Given the description of an element on the screen output the (x, y) to click on. 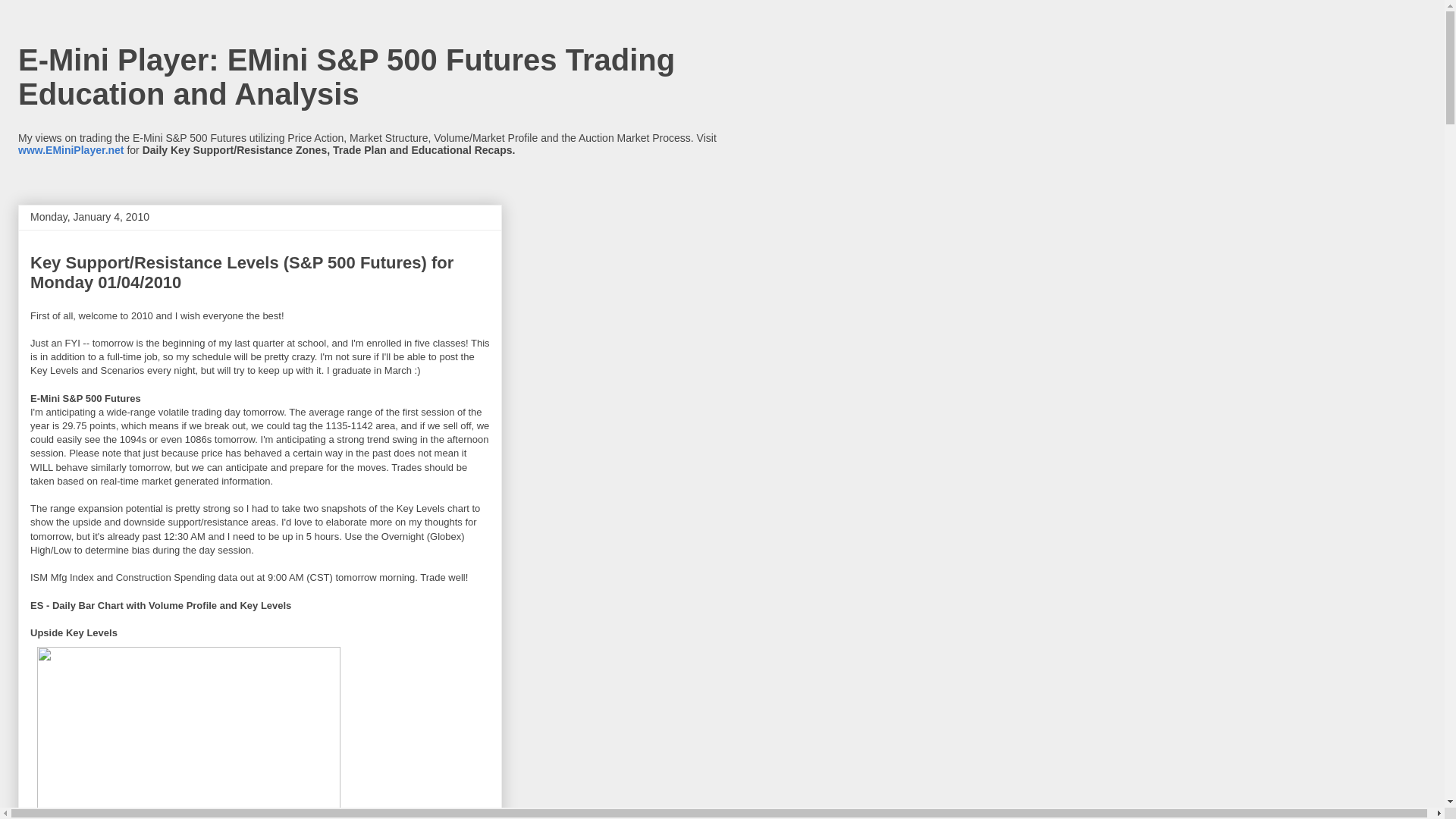
www.EMiniPlayer.net (70, 150)
